Given the description of an element on the screen output the (x, y) to click on. 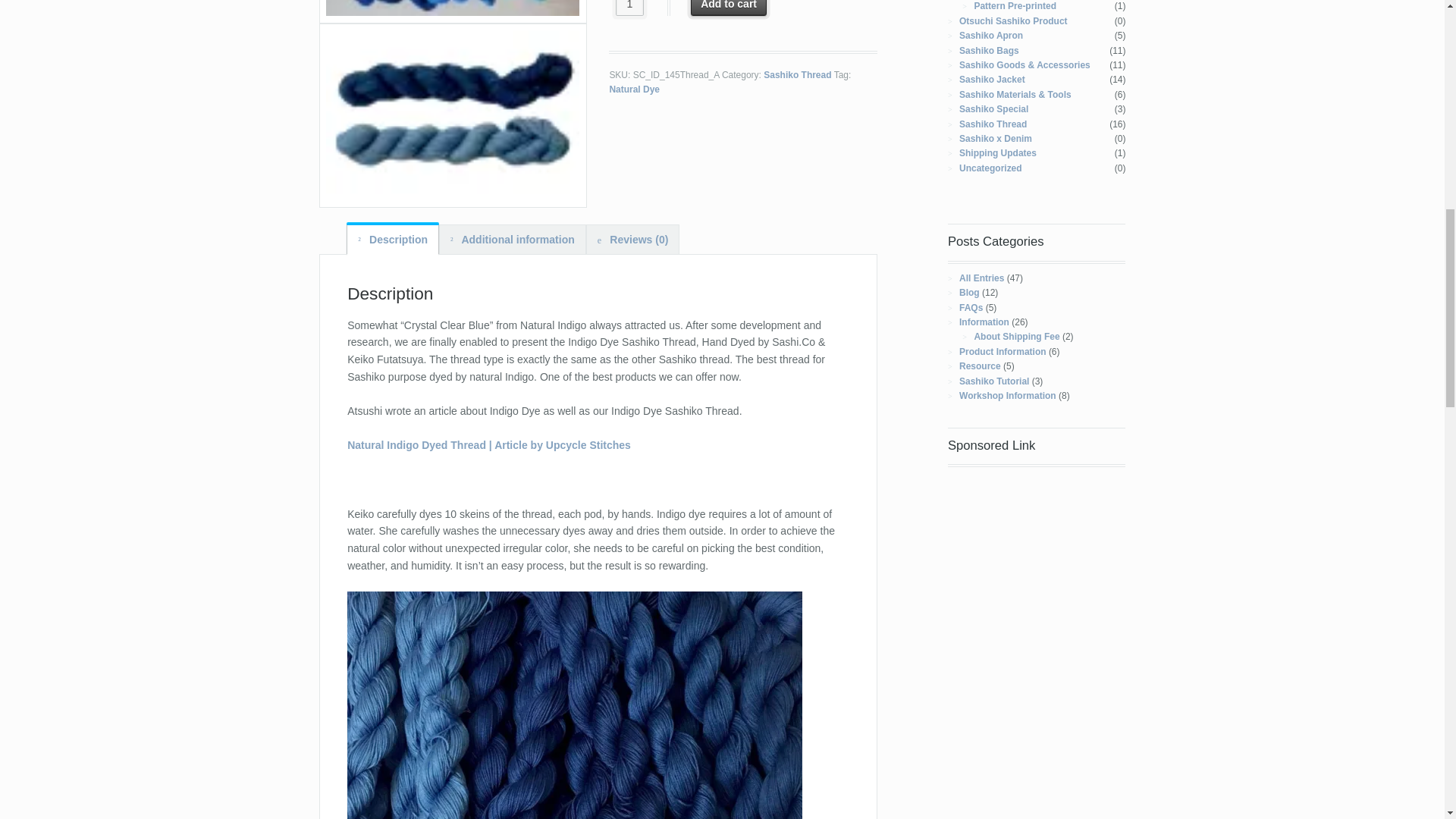
Add to cart (728, 7)
Natural Dye (633, 89)
Description (392, 238)
1 (629, 7)
Sashiko Thread (796, 74)
Additional information (512, 238)
